Given the description of an element on the screen output the (x, y) to click on. 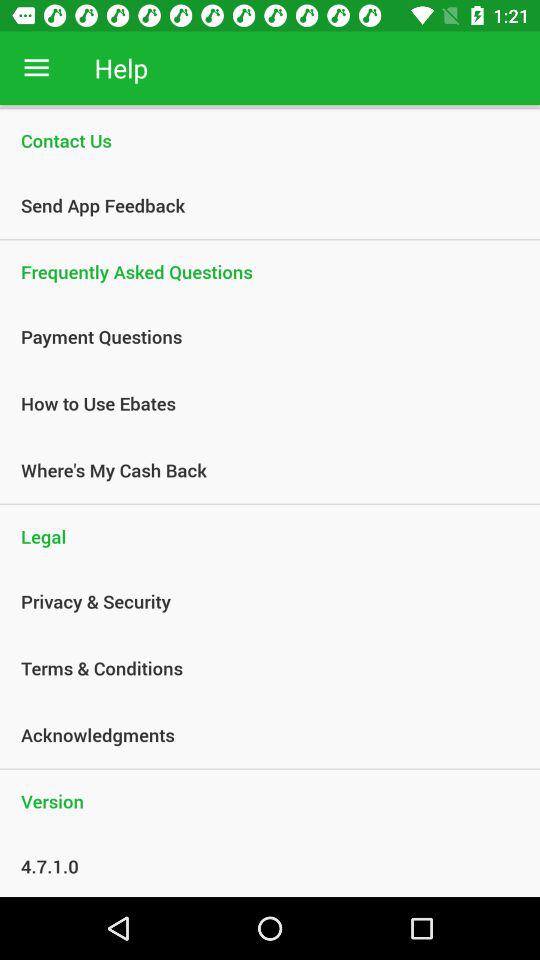
press the app to the left of help icon (36, 68)
